Given the description of an element on the screen output the (x, y) to click on. 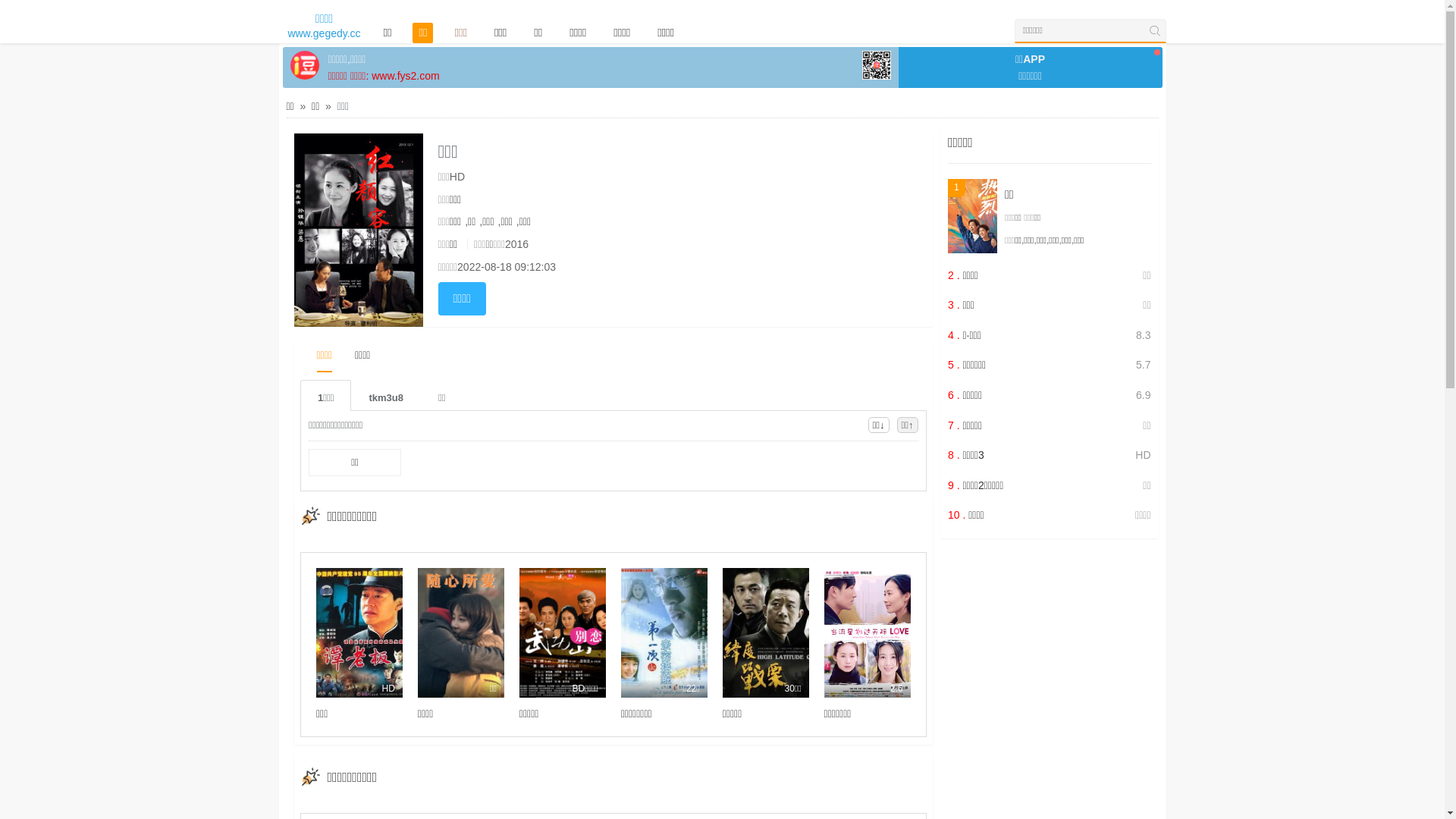
2.6 Element type: text (867, 632)
HD Element type: text (359, 632)
tkm3u8 Element type: text (385, 395)
1 Element type: text (972, 215)
